Given the description of an element on the screen output the (x, y) to click on. 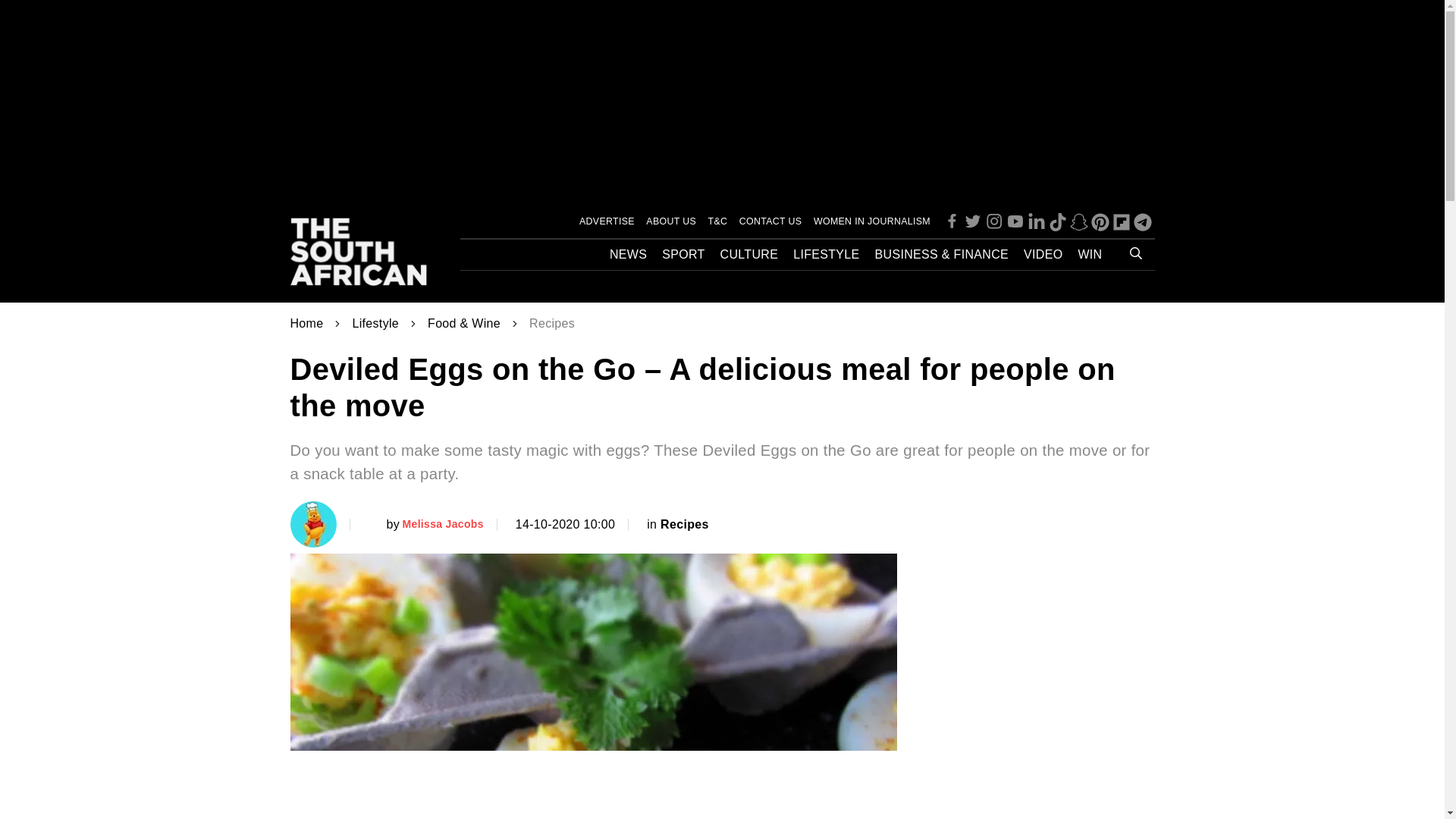
WOMEN IN JOURNALISM (871, 221)
ABOUT US (670, 221)
CONTACT US (770, 221)
NEWS (628, 254)
ADVERTISE (606, 221)
